Given the description of an element on the screen output the (x, y) to click on. 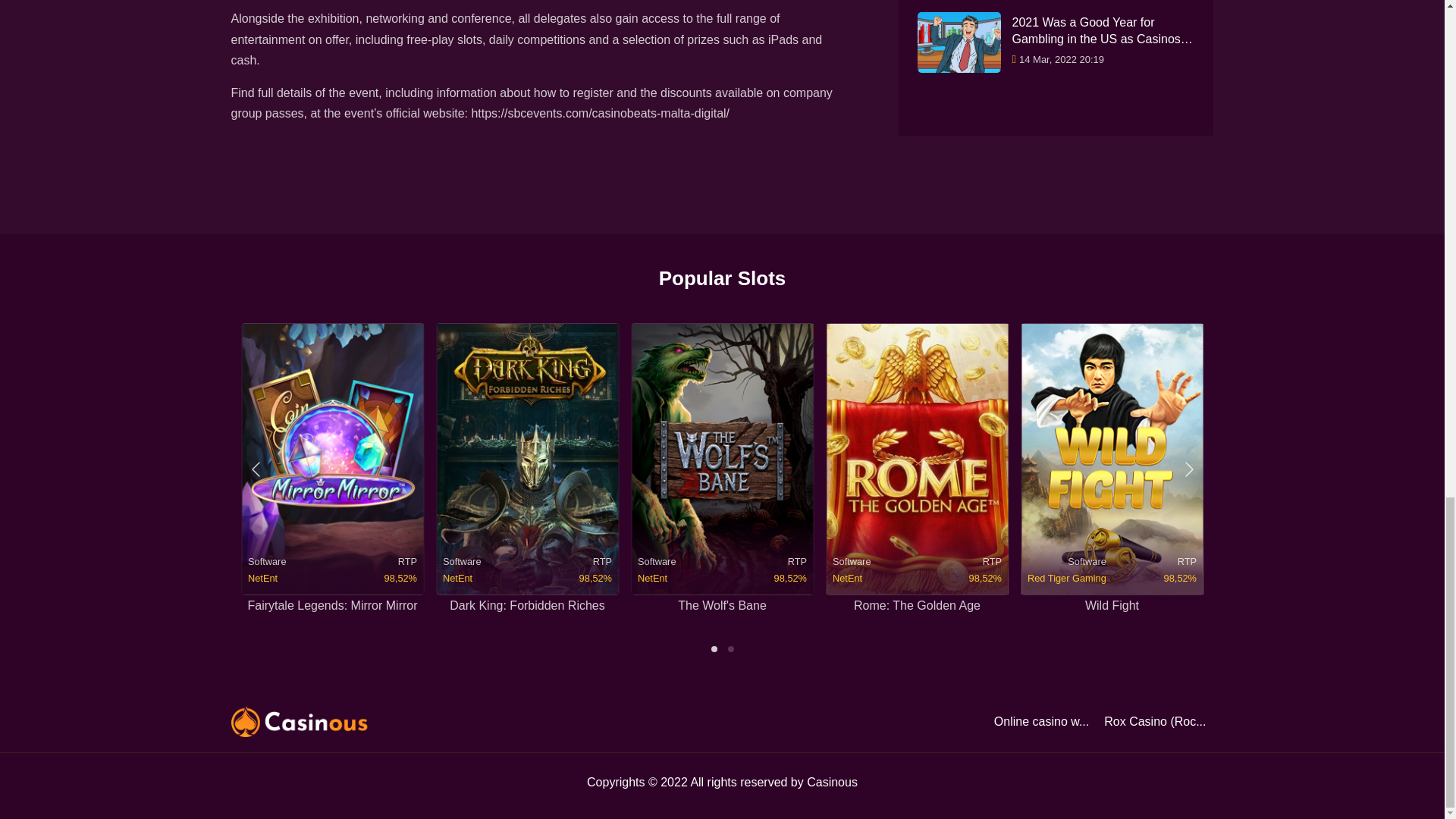
Dark King: Forbidden Riches (527, 605)
Previous slide (256, 469)
Fairytale Legends: Mirror Mirror (331, 605)
The Wolf's Bane (722, 605)
Next slide (1187, 469)
